Given the description of an element on the screen output the (x, y) to click on. 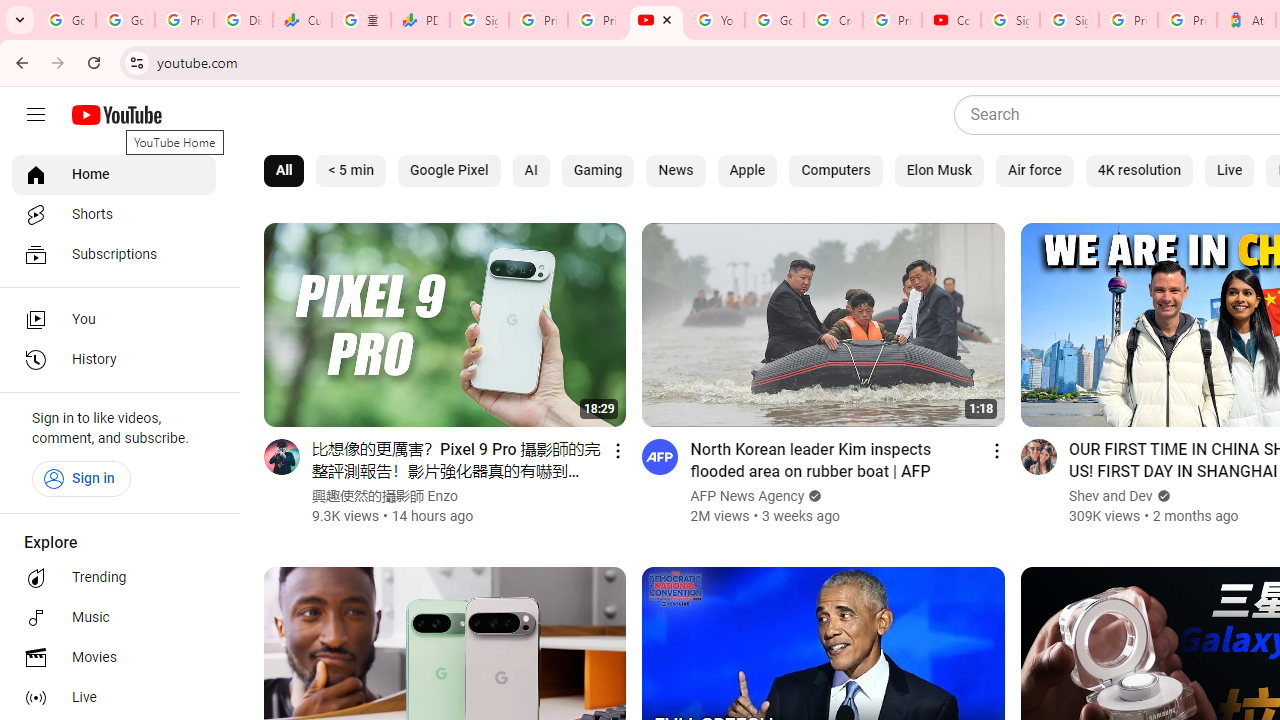
AI (531, 170)
Shorts (113, 214)
Google Account Help (774, 20)
Content Creator Programs & Opportunities - YouTube Creators (950, 20)
AFP News Agency (747, 496)
Live (113, 697)
Guide (35, 115)
4K resolution (1138, 170)
PDD Holdings Inc - ADR (PDD) Price & News - Google Finance (420, 20)
